Given the description of an element on the screen output the (x, y) to click on. 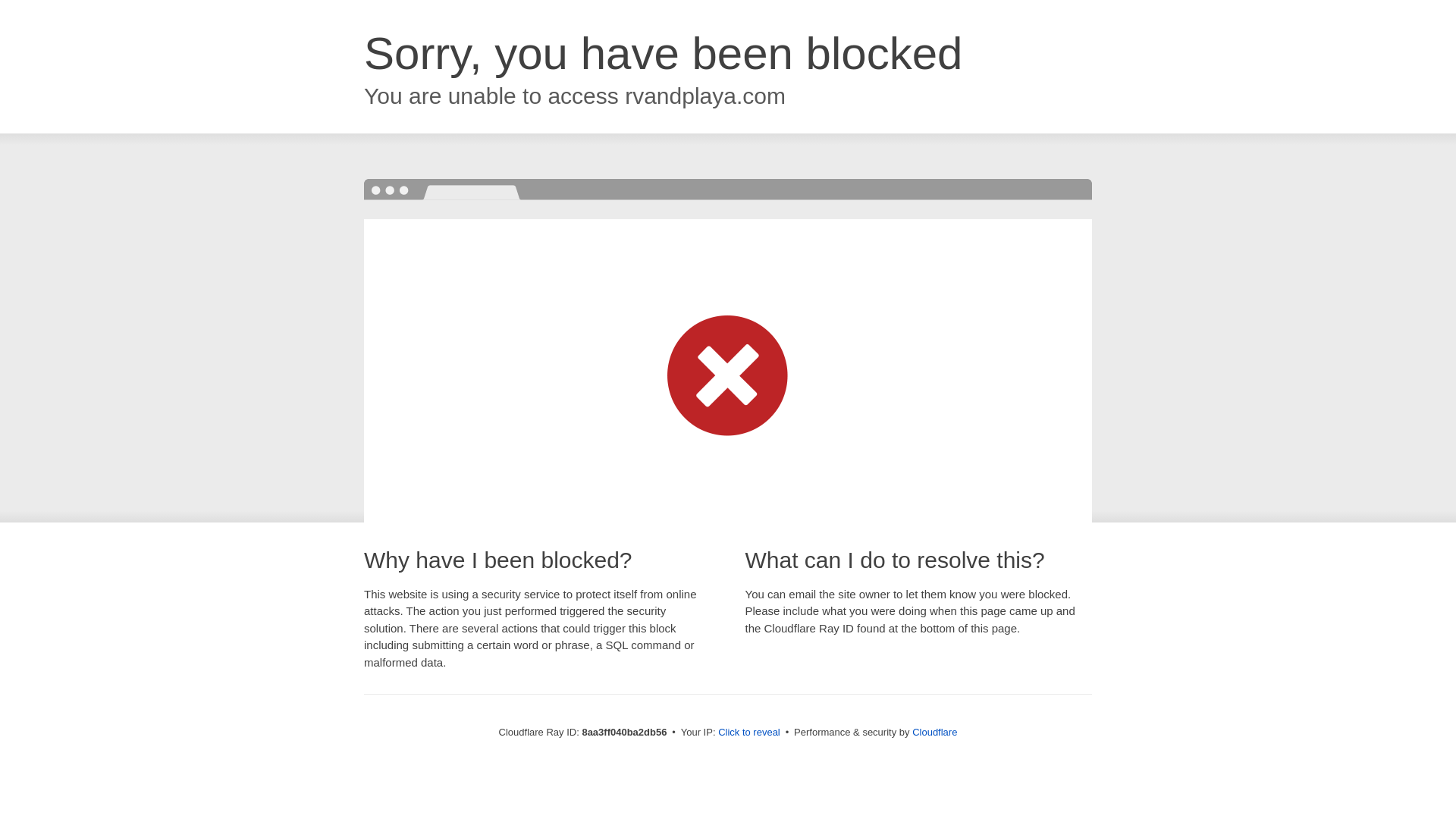
Cloudflare (934, 731)
Click to reveal (748, 732)
